Given the description of an element on the screen output the (x, y) to click on. 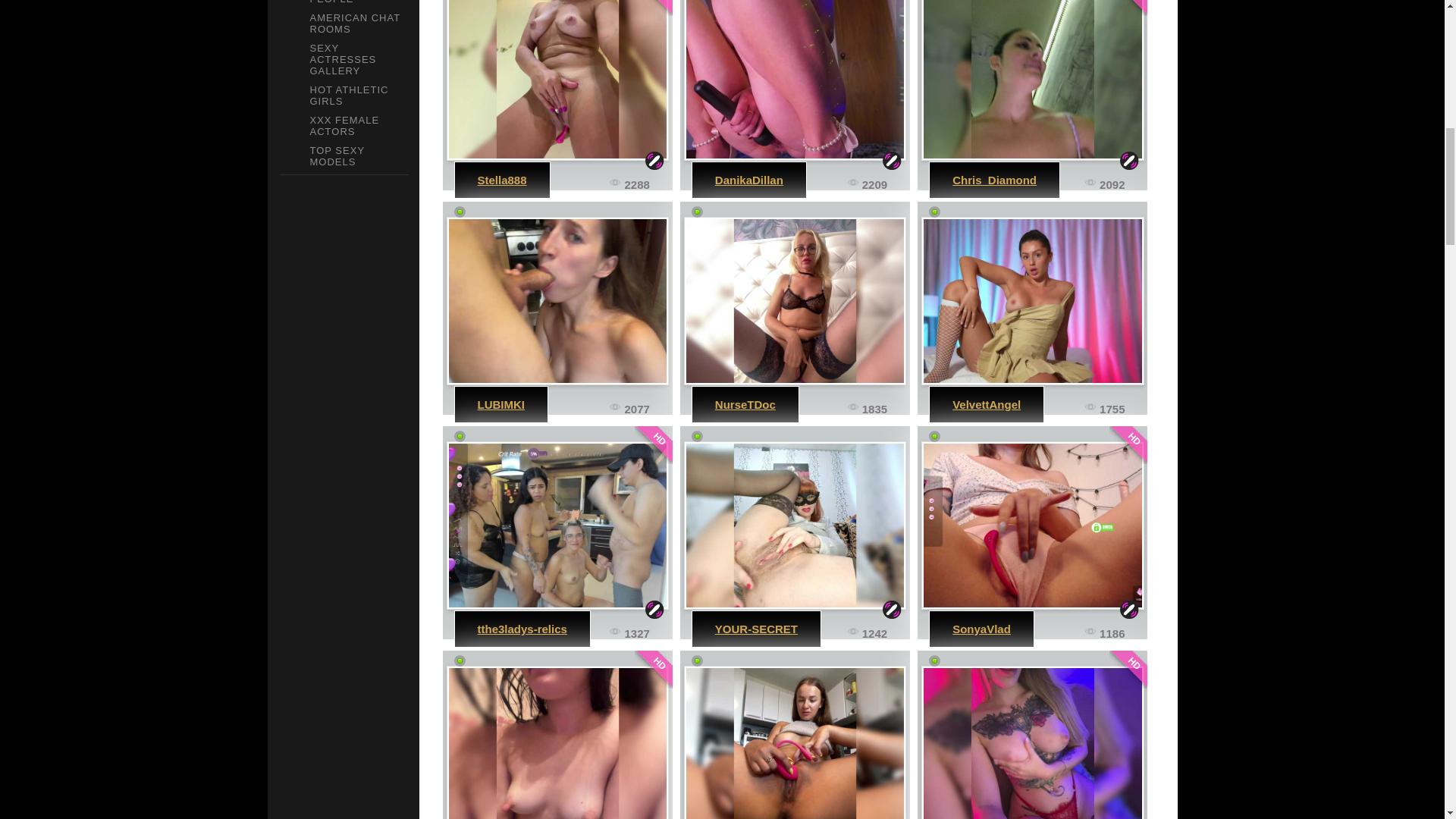
LUBIMKI (556, 300)
LUBIMKI (501, 404)
SonyaVlad (981, 628)
YOUR-SECRET (755, 628)
NurseTDoc (794, 300)
Stella888 (556, 80)
NurseTDoc (745, 404)
VelvettAngel (1031, 300)
DanikaDillan (794, 80)
DanikaDillan (748, 179)
